Given the description of an element on the screen output the (x, y) to click on. 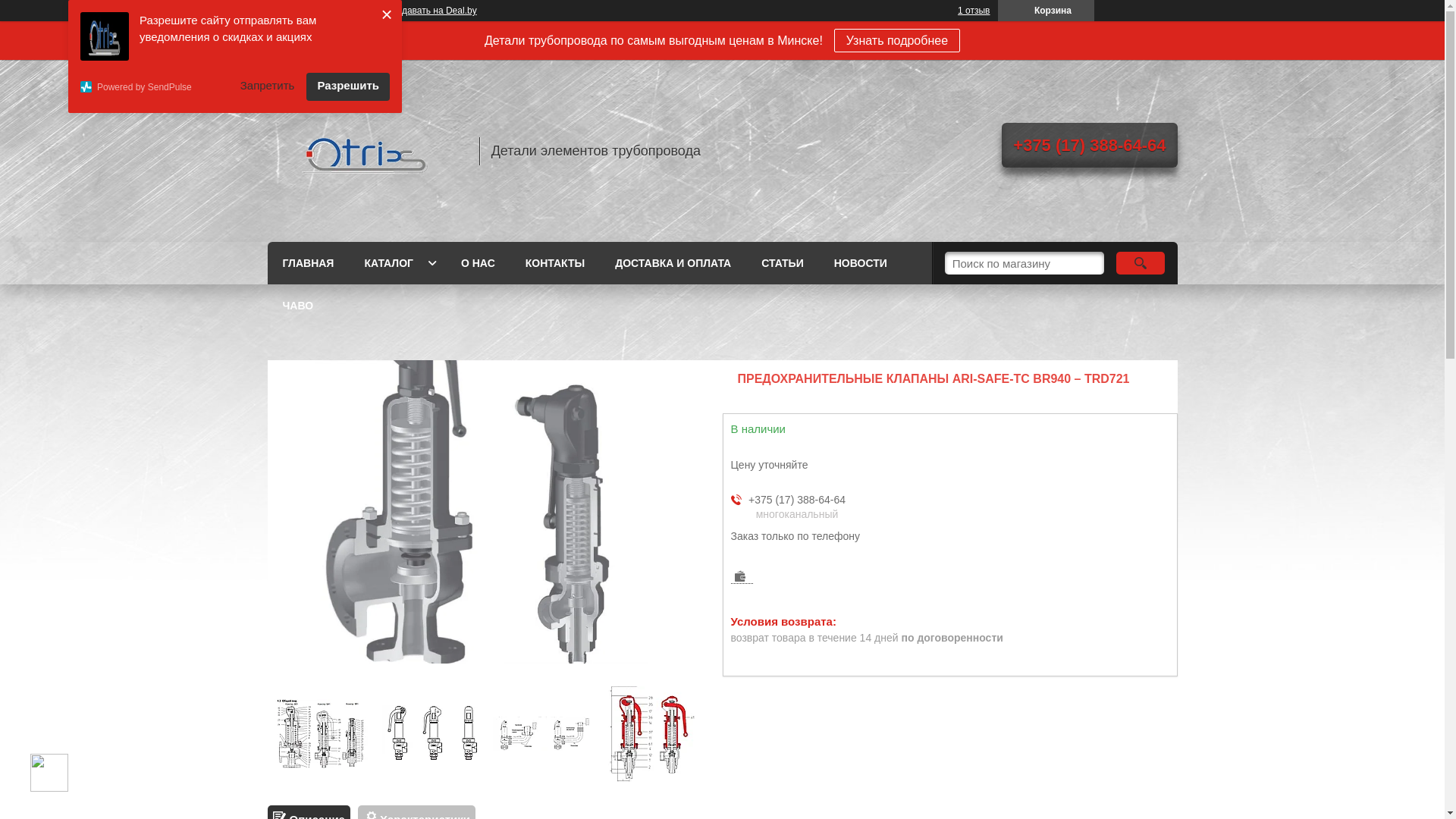
Powered by SendPulse Element type: text (154, 86)
